Given the description of an element on the screen output the (x, y) to click on. 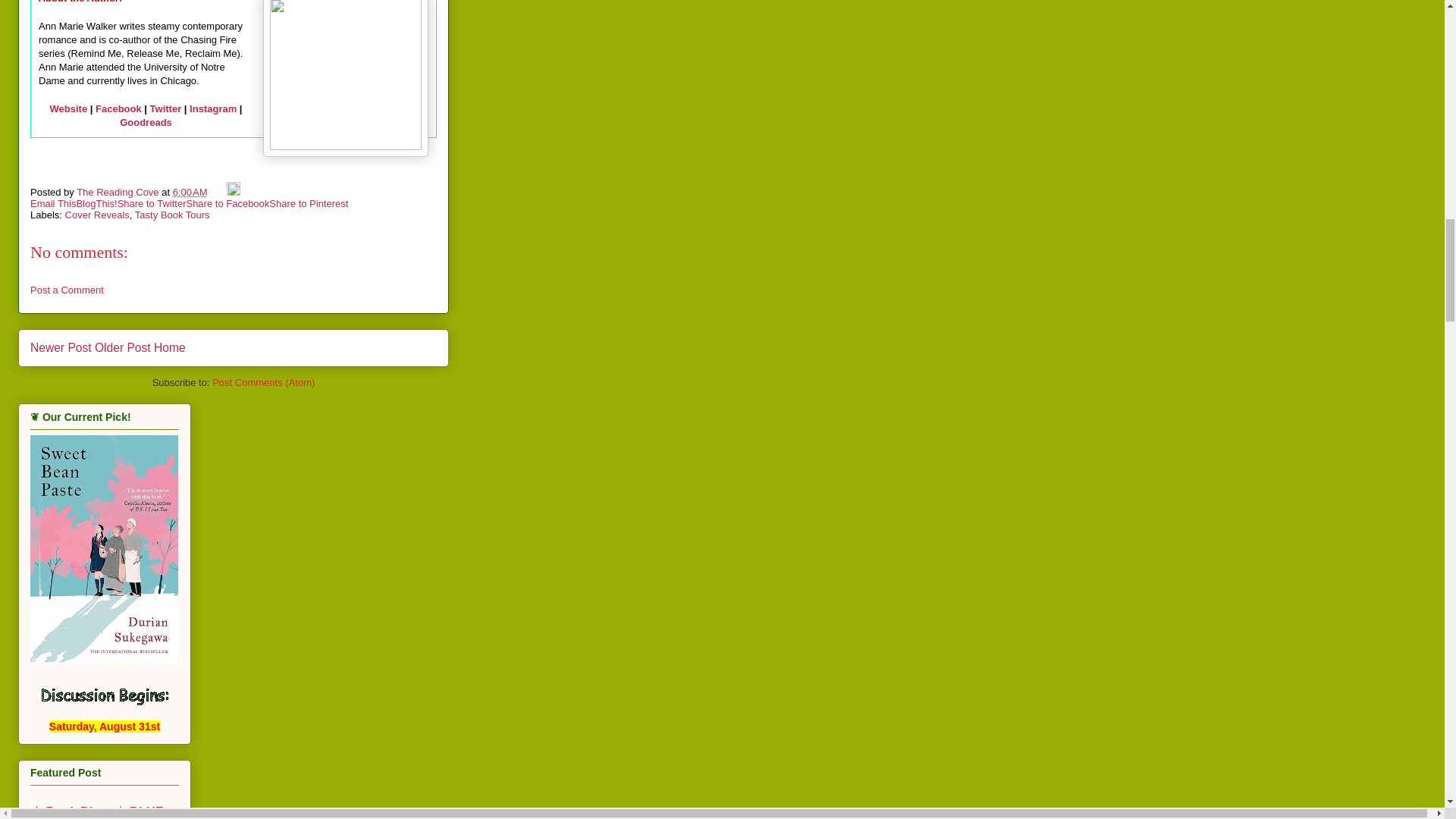
The Reading Cove (119, 192)
Share to Facebook (227, 203)
Email This (52, 203)
Share to Twitter (151, 203)
Email Post (218, 192)
Goodreads (145, 122)
BlogThis! (95, 203)
Instagram (212, 108)
BlogThis! (95, 203)
permanent link (190, 192)
Facebook (118, 108)
author profile (119, 192)
Edit Post (233, 192)
Share to Twitter (151, 203)
